Given the description of an element on the screen output the (x, y) to click on. 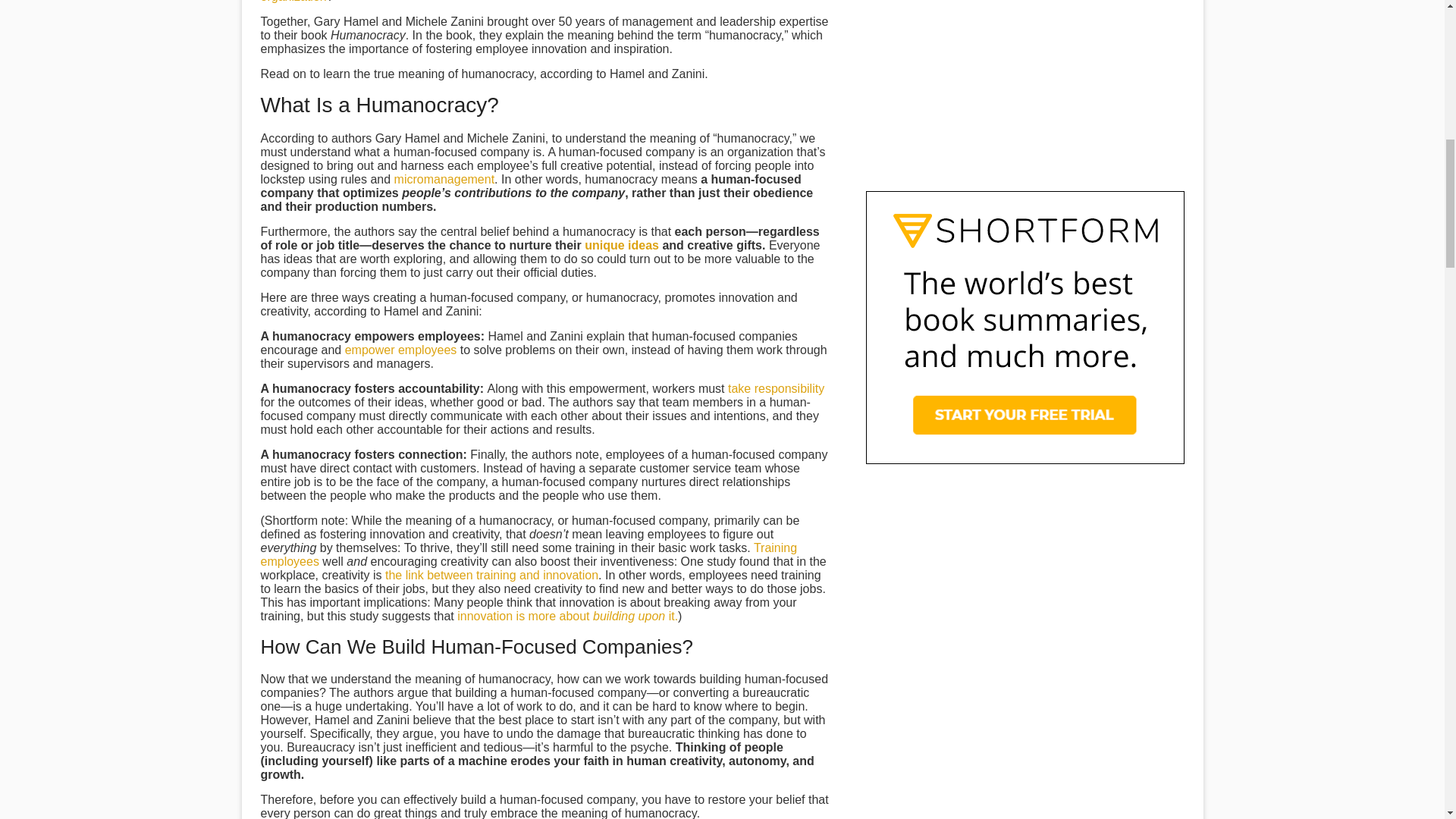
take responsibility (776, 388)
Training employees (528, 554)
the link between training and innovation (491, 574)
micromanagement (444, 178)
unique ideas (622, 245)
innovation is more about building upon it. (567, 615)
empower employees (401, 349)
